Given the description of an element on the screen output the (x, y) to click on. 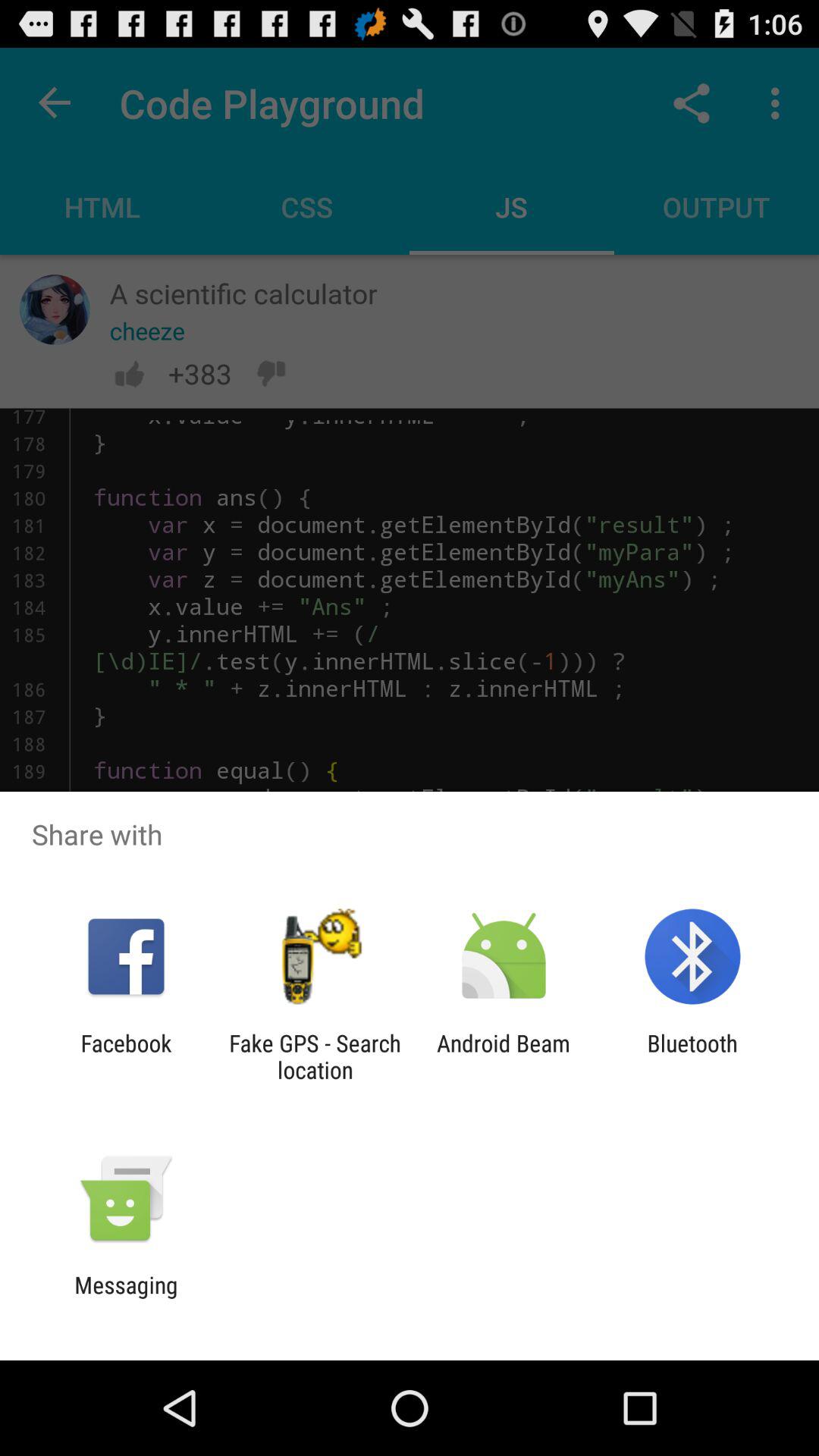
turn off fake gps search app (314, 1056)
